Given the description of an element on the screen output the (x, y) to click on. 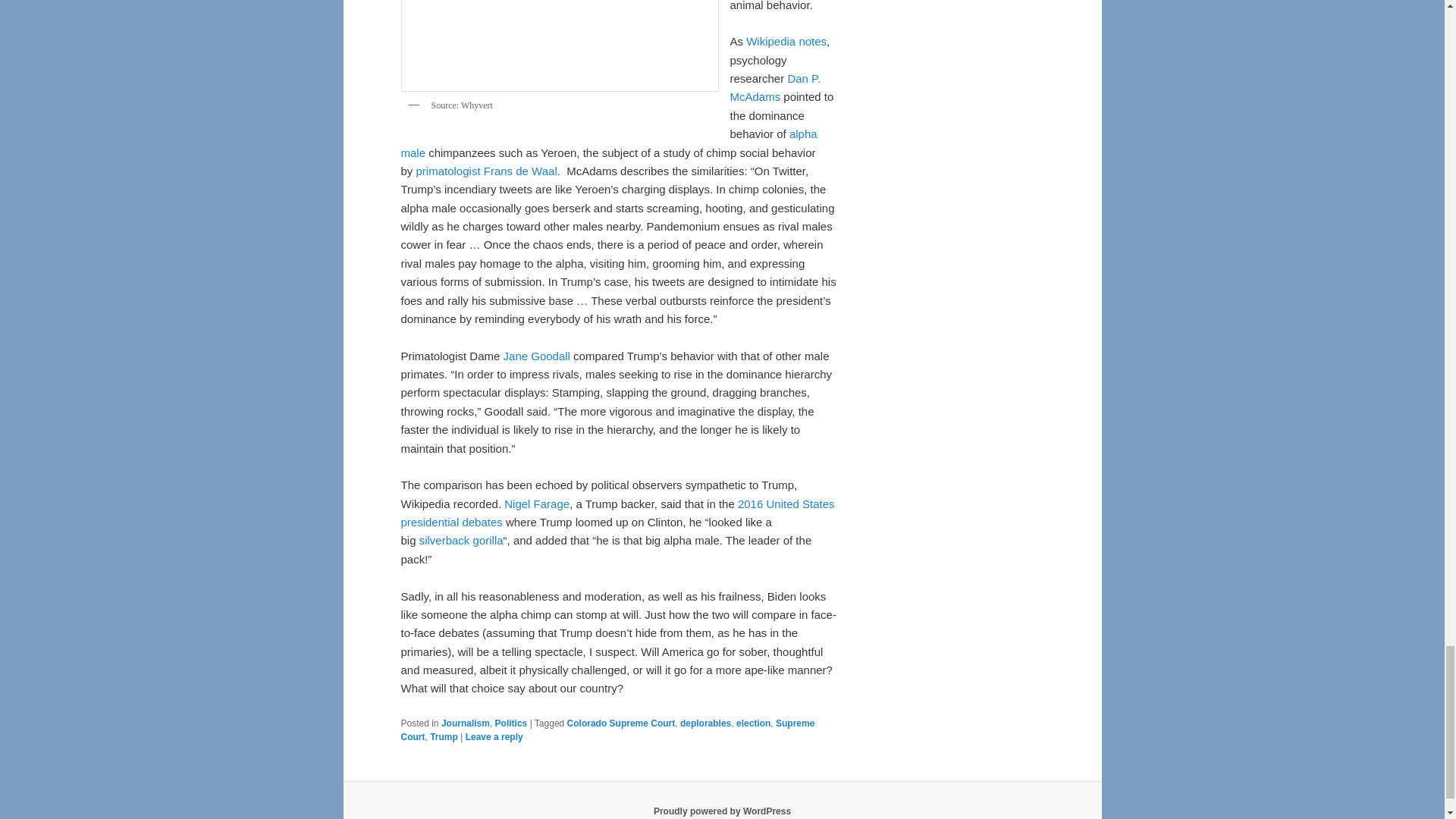
Wikipedia notes (786, 41)
silverback gorilla (461, 540)
Nigel Farage (536, 503)
2016 United States presidential debates (617, 512)
Semantic Personal Publishing Platform (721, 810)
Frans de Waal (520, 170)
Dan P. McAdams (775, 87)
primatologist (448, 170)
Journalism (465, 723)
Jane Goodall (536, 355)
alpha male (608, 142)
